Given the description of an element on the screen output the (x, y) to click on. 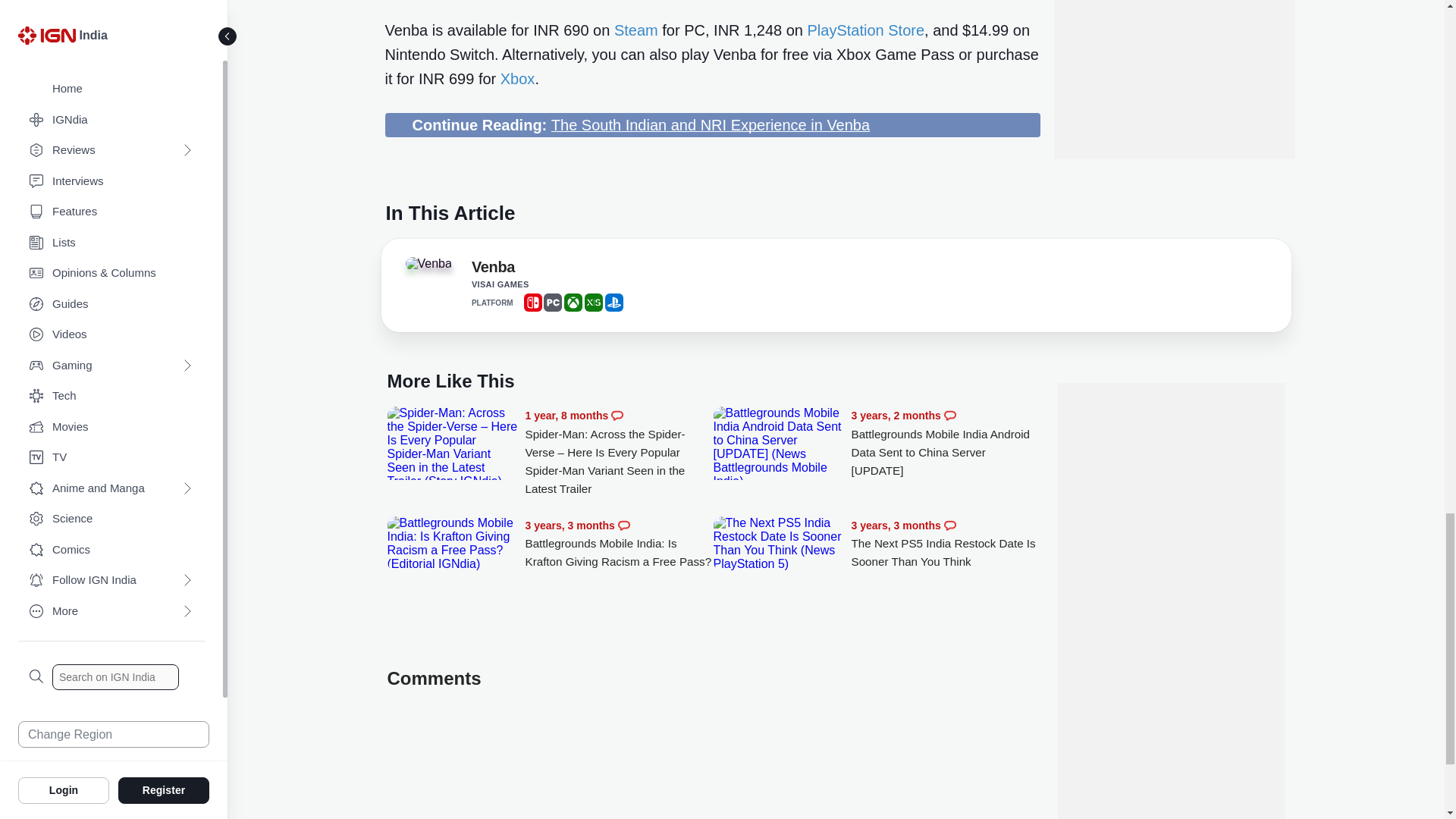
Venba (433, 268)
Venba (493, 269)
The Next PS5 India Restock Date Is Sooner Than You Think (778, 543)
The Next PS5 India Restock Date Is Sooner Than You Think (944, 543)
Venba (427, 264)
